Given the description of an element on the screen output the (x, y) to click on. 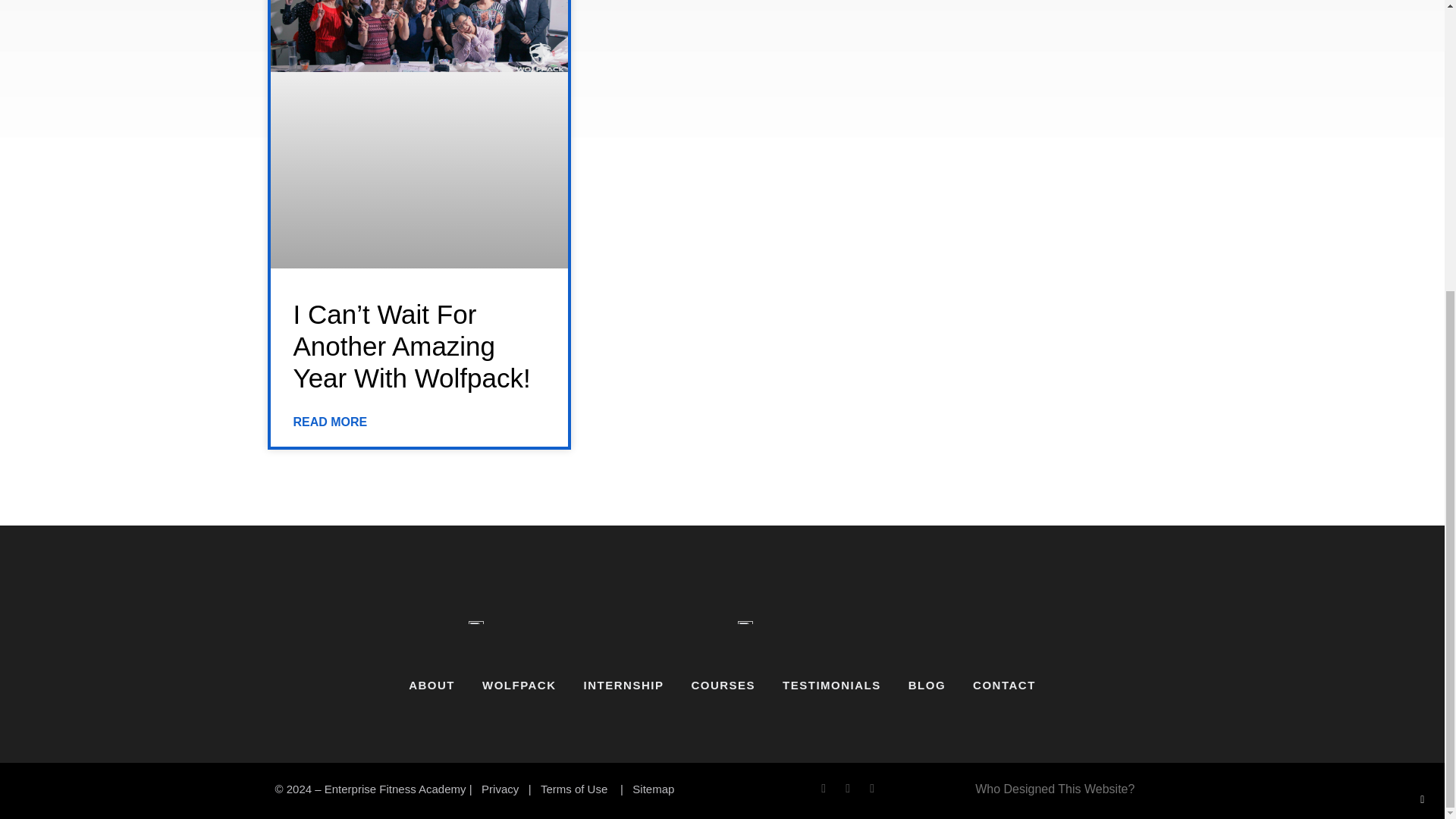
READ MORE (329, 422)
TESTIMONIALS (831, 685)
WOLFPACK (519, 685)
ABOUT (431, 685)
COURSES (722, 685)
INTERNSHIP (624, 685)
